Given the description of an element on the screen output the (x, y) to click on. 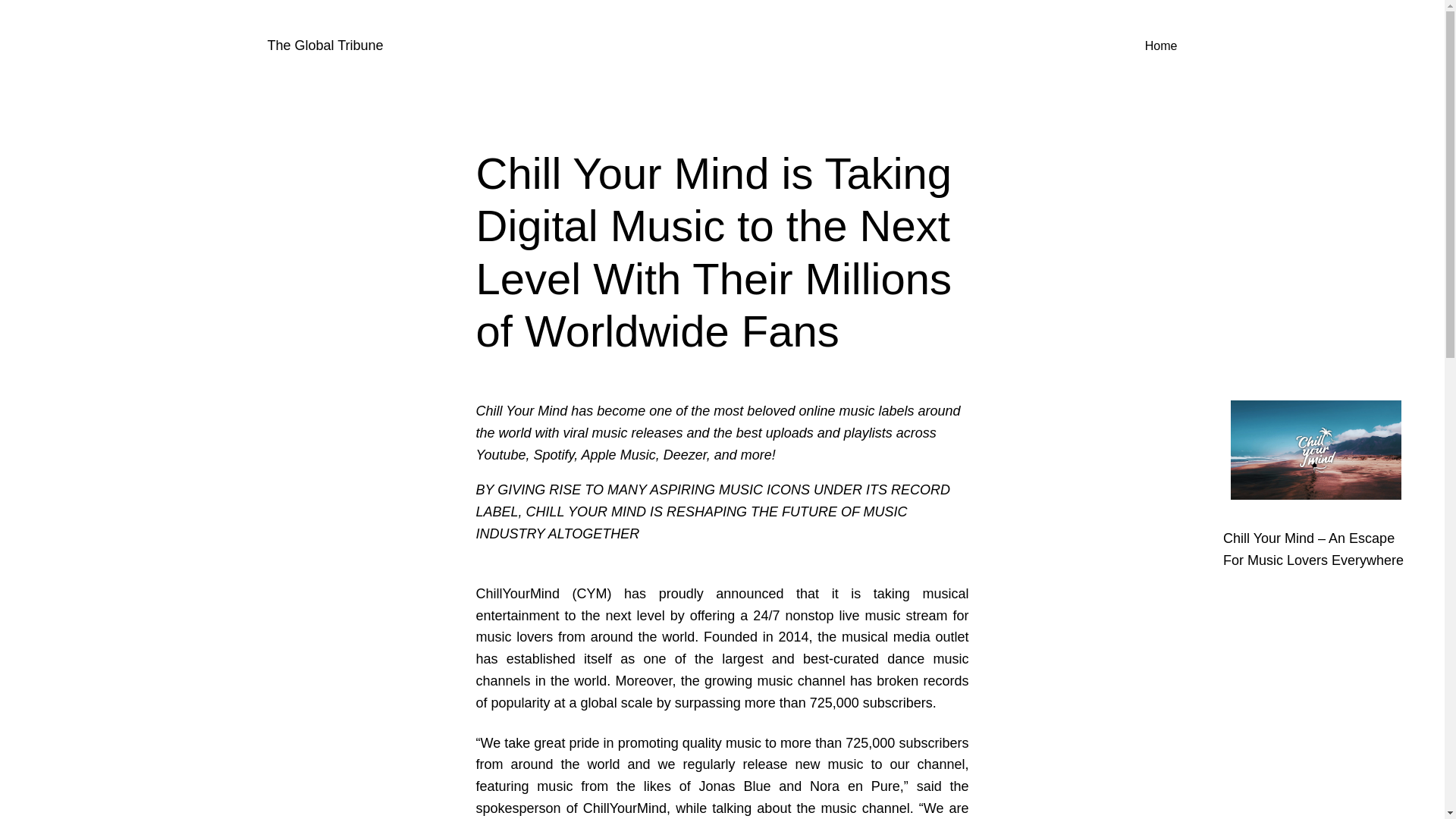
Home (1160, 46)
The Global Tribune (324, 45)
